Given the description of an element on the screen output the (x, y) to click on. 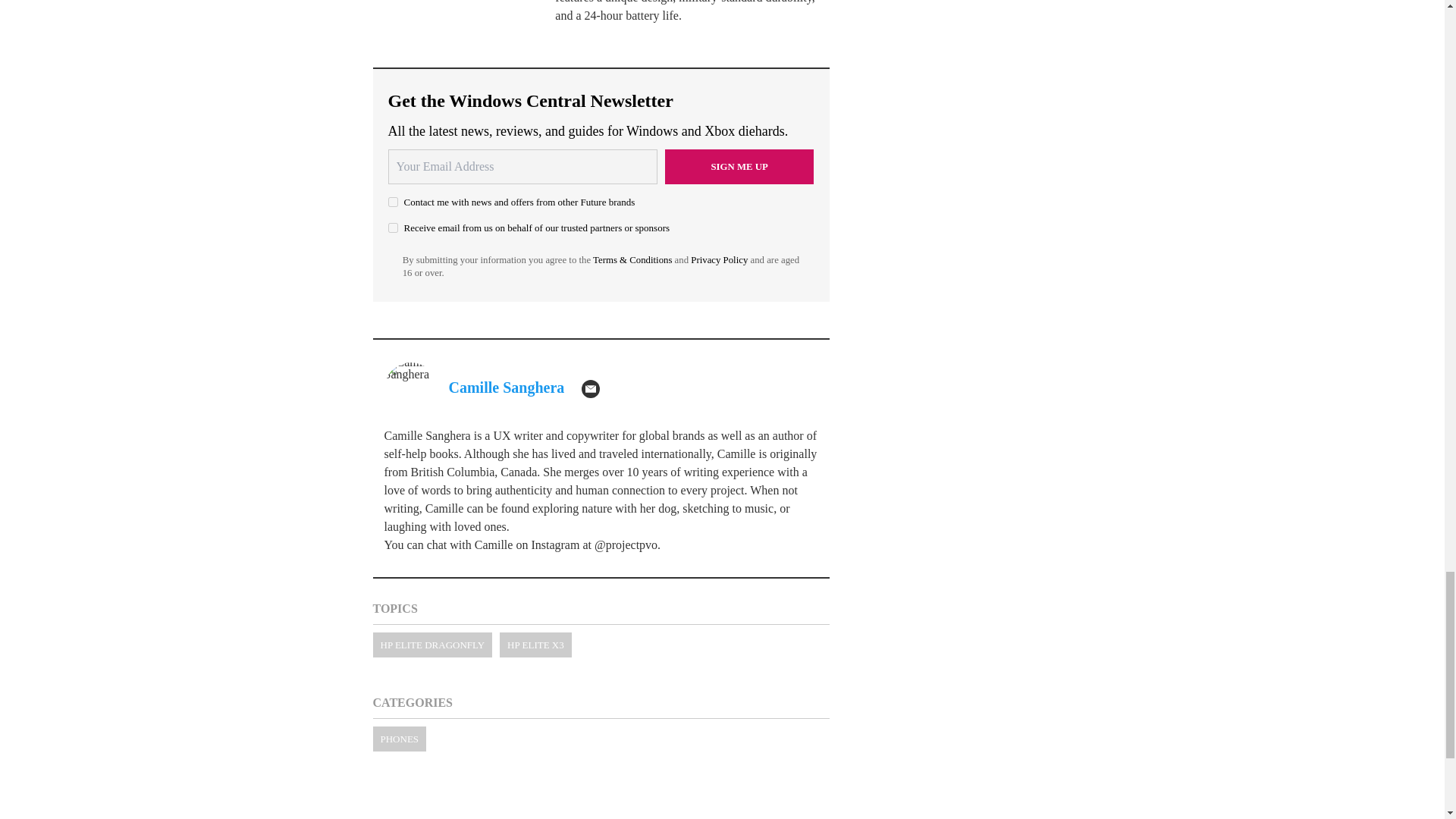
Privacy Policy (719, 259)
PHONES (399, 738)
HP ELITE DRAGONFLY (432, 644)
HP ELITE X3 (535, 644)
Sign me up (739, 166)
Sign me up (739, 166)
on (392, 202)
Camille Sanghera (506, 387)
on (392, 227)
